Given the description of an element on the screen output the (x, y) to click on. 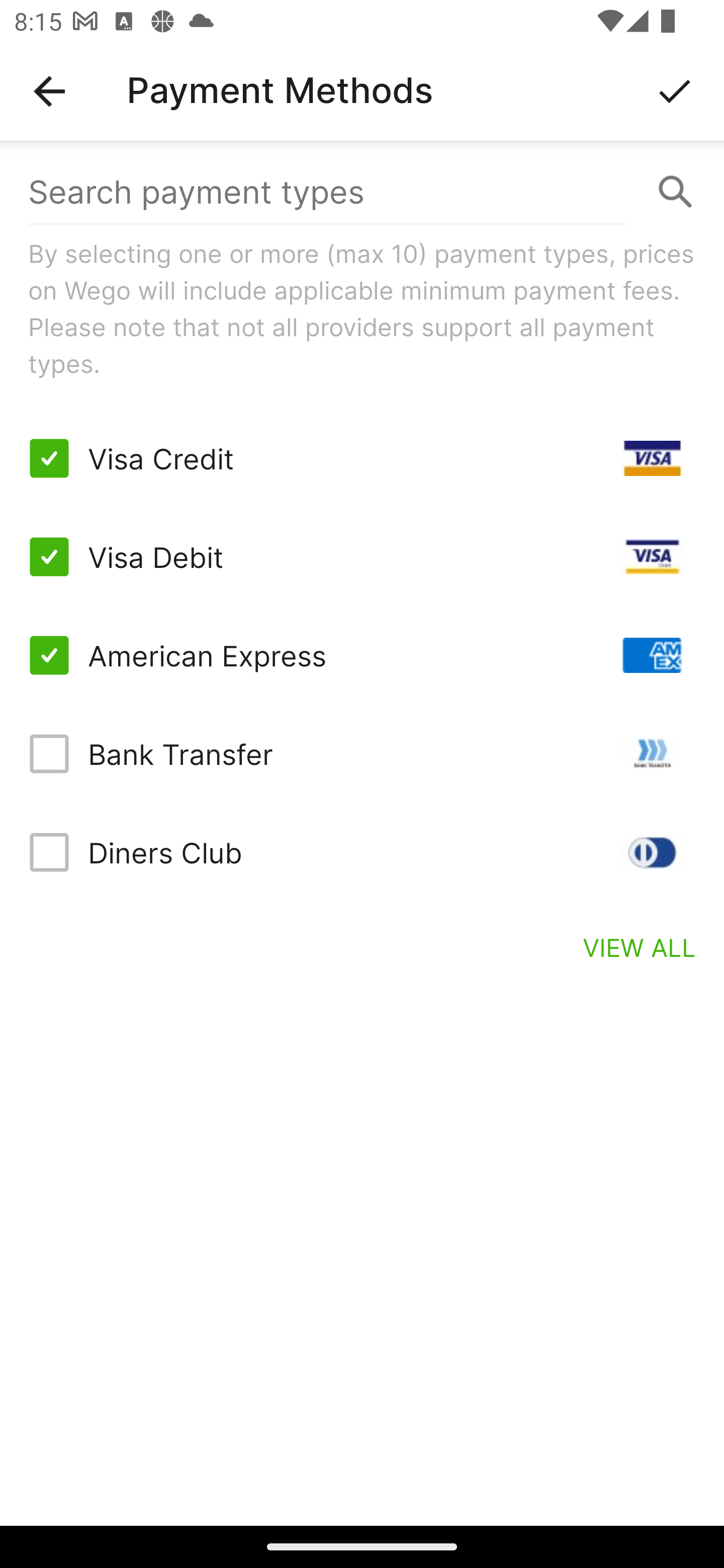
Search payment types  (361, 191)
Visa Credit (362, 458)
Visa Debit (362, 557)
American Express (362, 655)
Bank Transfer (362, 753)
Diners Club (362, 851)
VIEW ALL (639, 946)
